Given the description of an element on the screen output the (x, y) to click on. 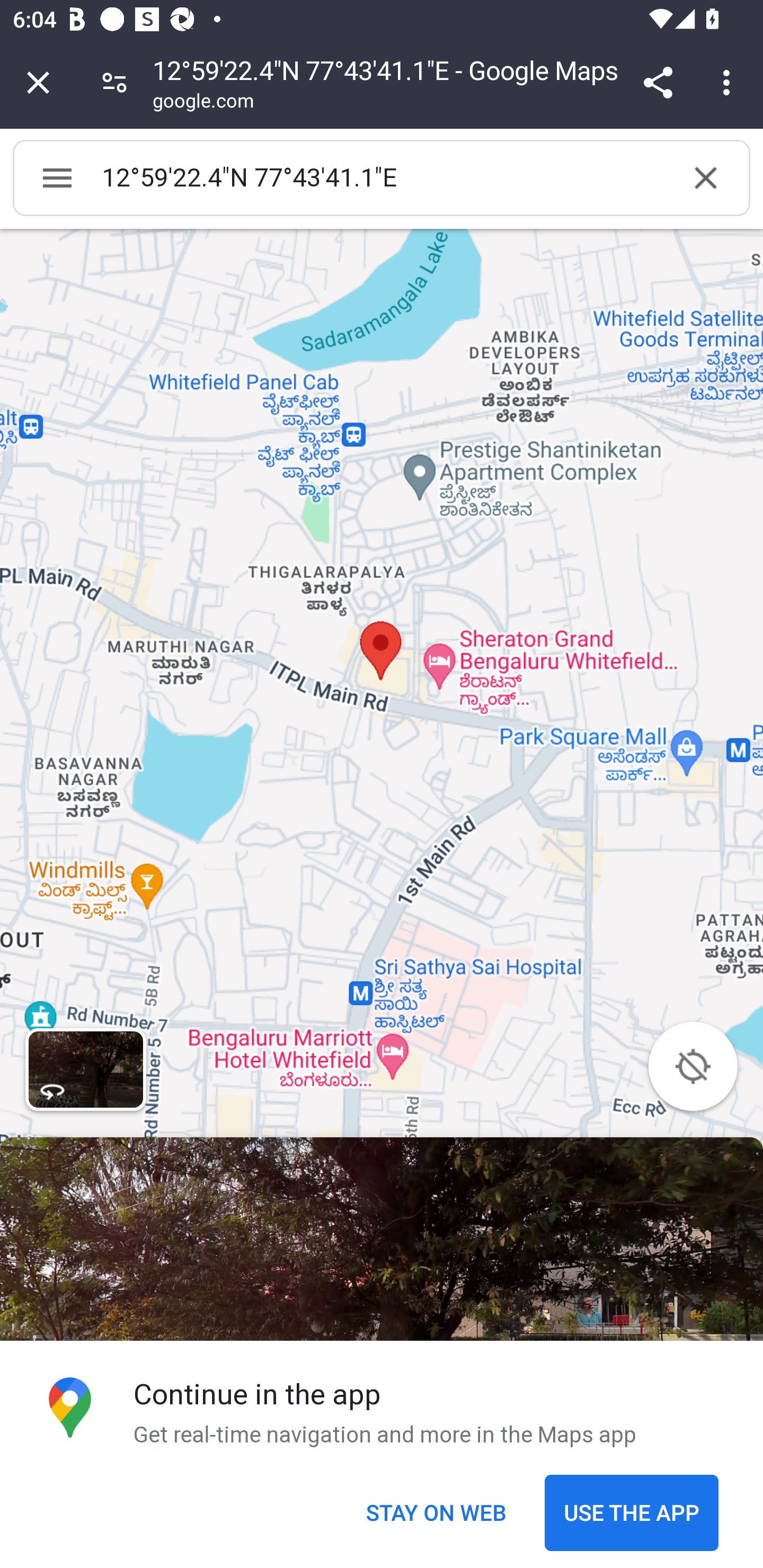
Close tab (38, 82)
Share (657, 82)
Customize and control Google Chrome (729, 82)
Connection is secure (114, 81)
google.com (203, 103)
STAY ON WEB (436, 1512)
USE THE APP (630, 1512)
